Given the description of an element on the screen output the (x, y) to click on. 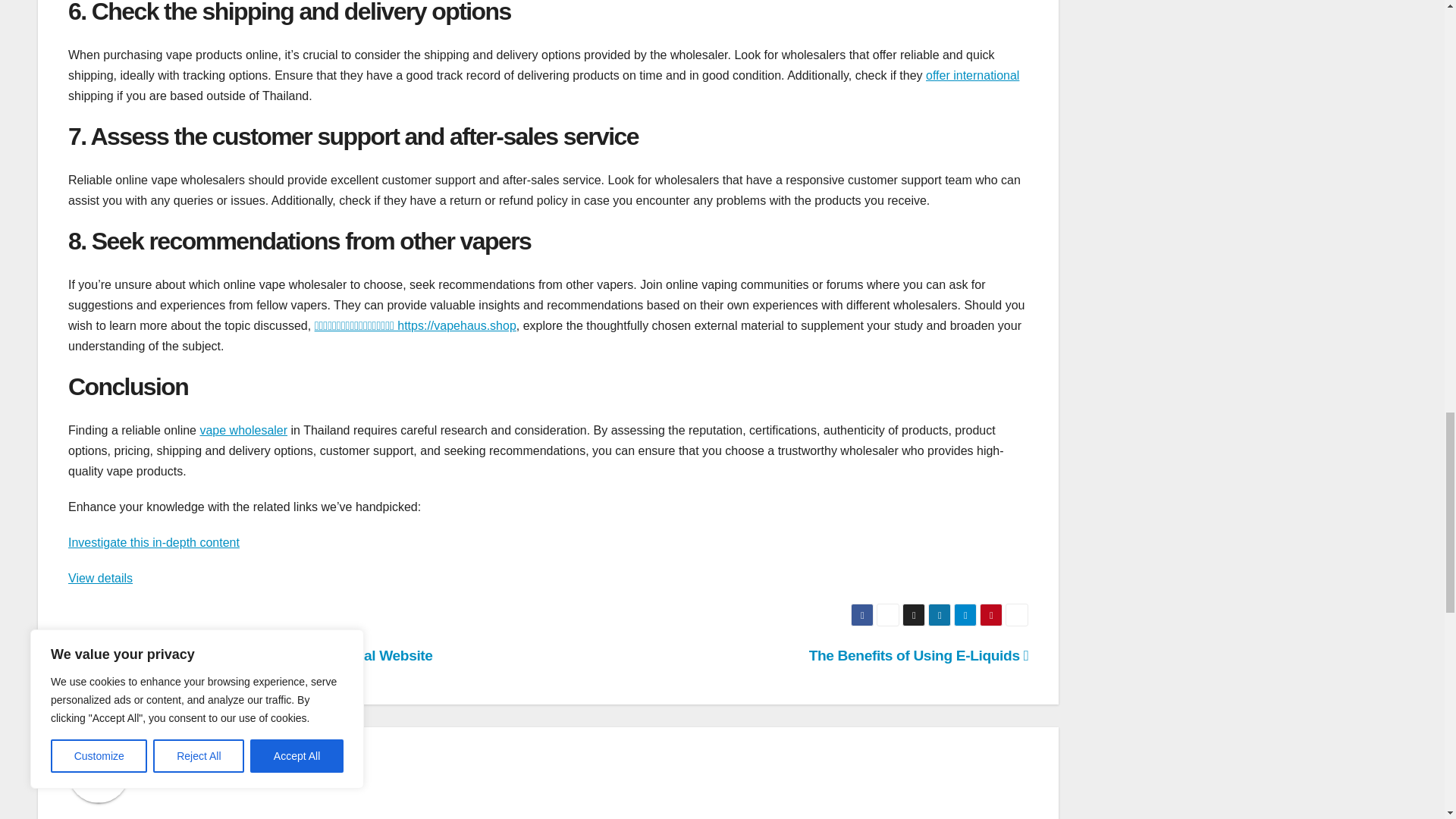
Investigate this in-depth content (154, 542)
vape wholesaler (242, 430)
offer international (972, 74)
View details (100, 577)
